Given the description of an element on the screen output the (x, y) to click on. 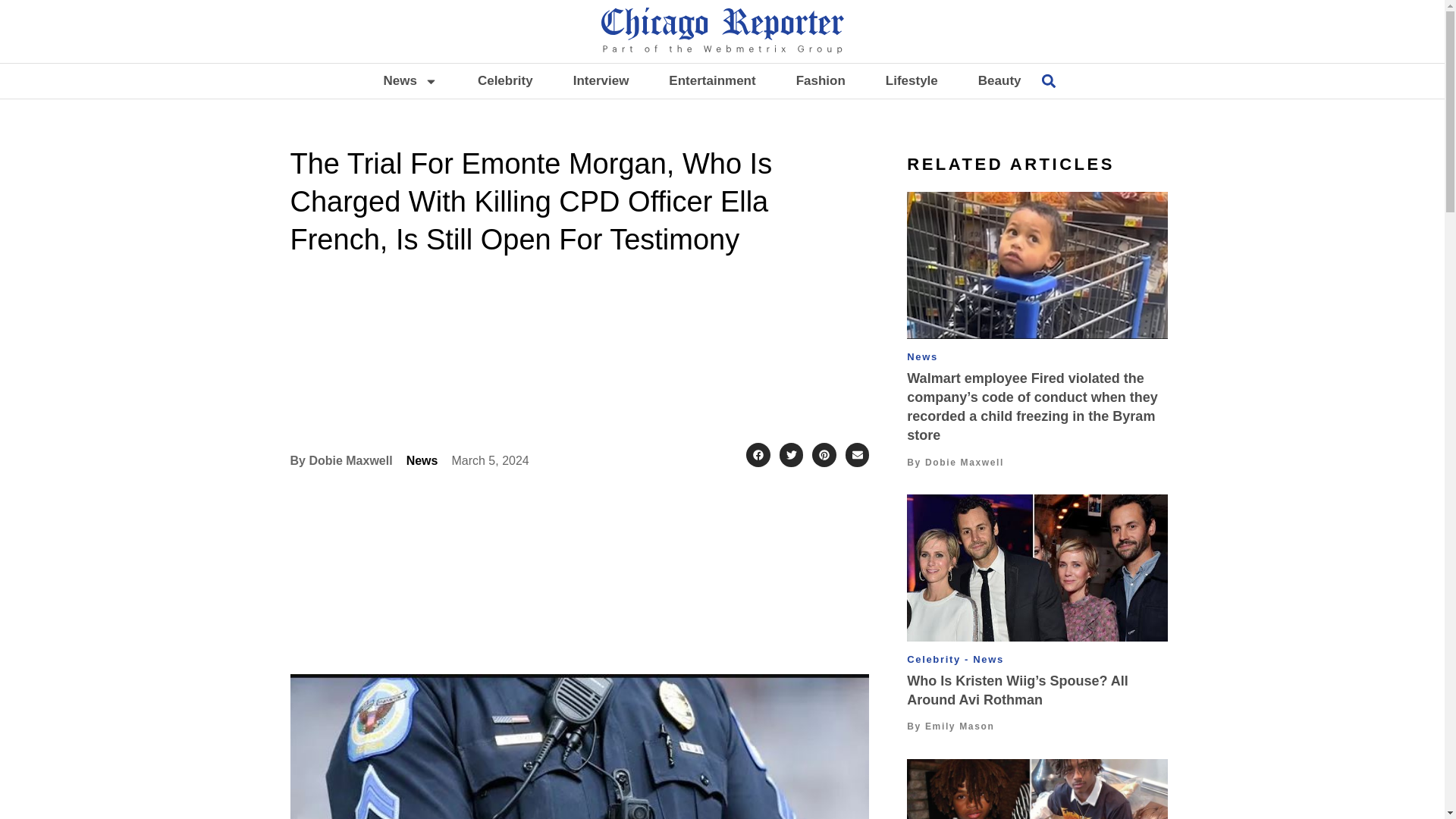
Fashion (820, 80)
Entertainment (711, 80)
Beauty (1000, 80)
Lifestyle (911, 80)
Interview (600, 80)
Celebrity (504, 80)
News (409, 80)
